Given the description of an element on the screen output the (x, y) to click on. 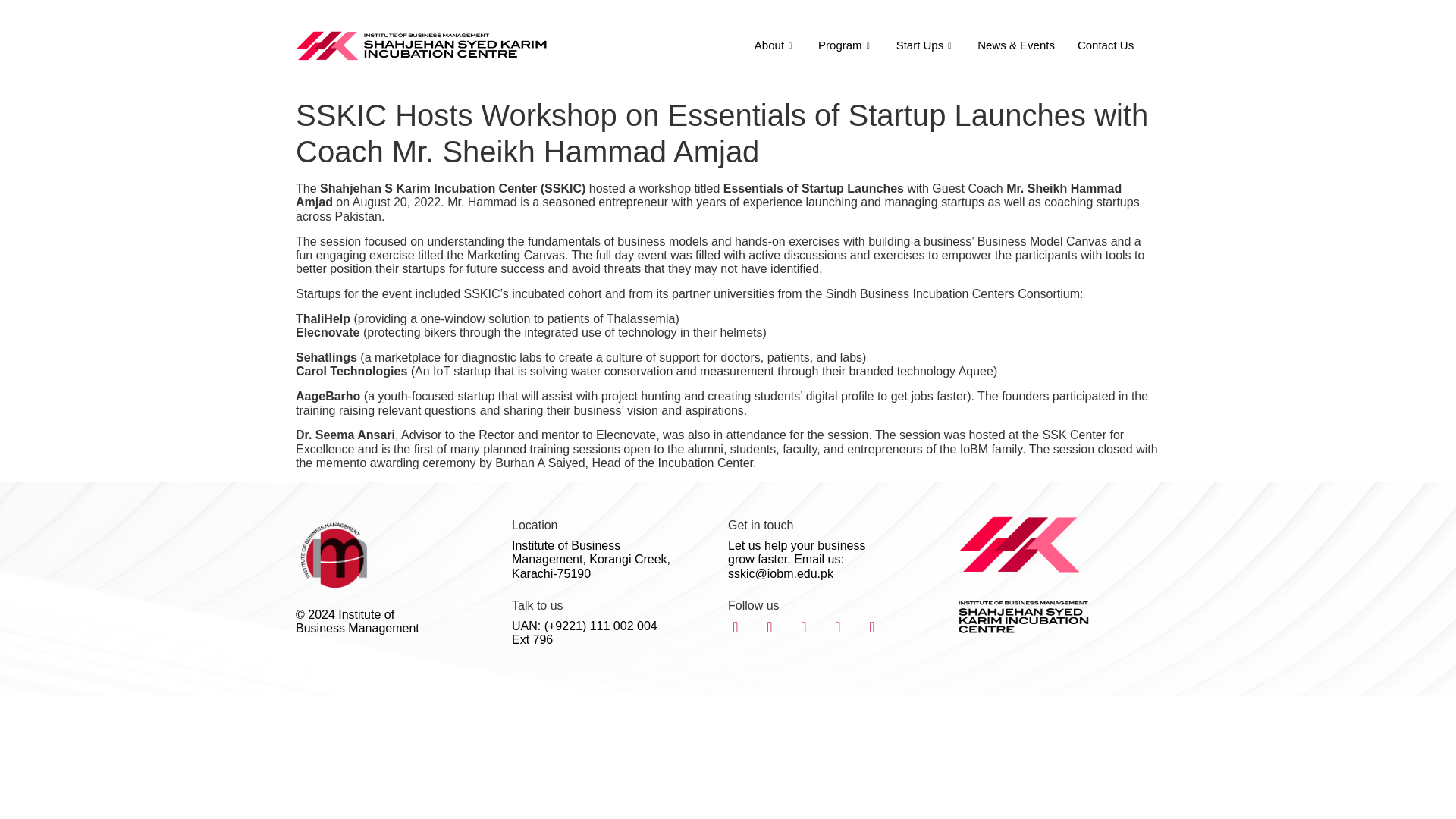
About (774, 45)
Contact Us (1104, 45)
Start Ups (925, 45)
Program (845, 45)
